Given the description of an element on the screen output the (x, y) to click on. 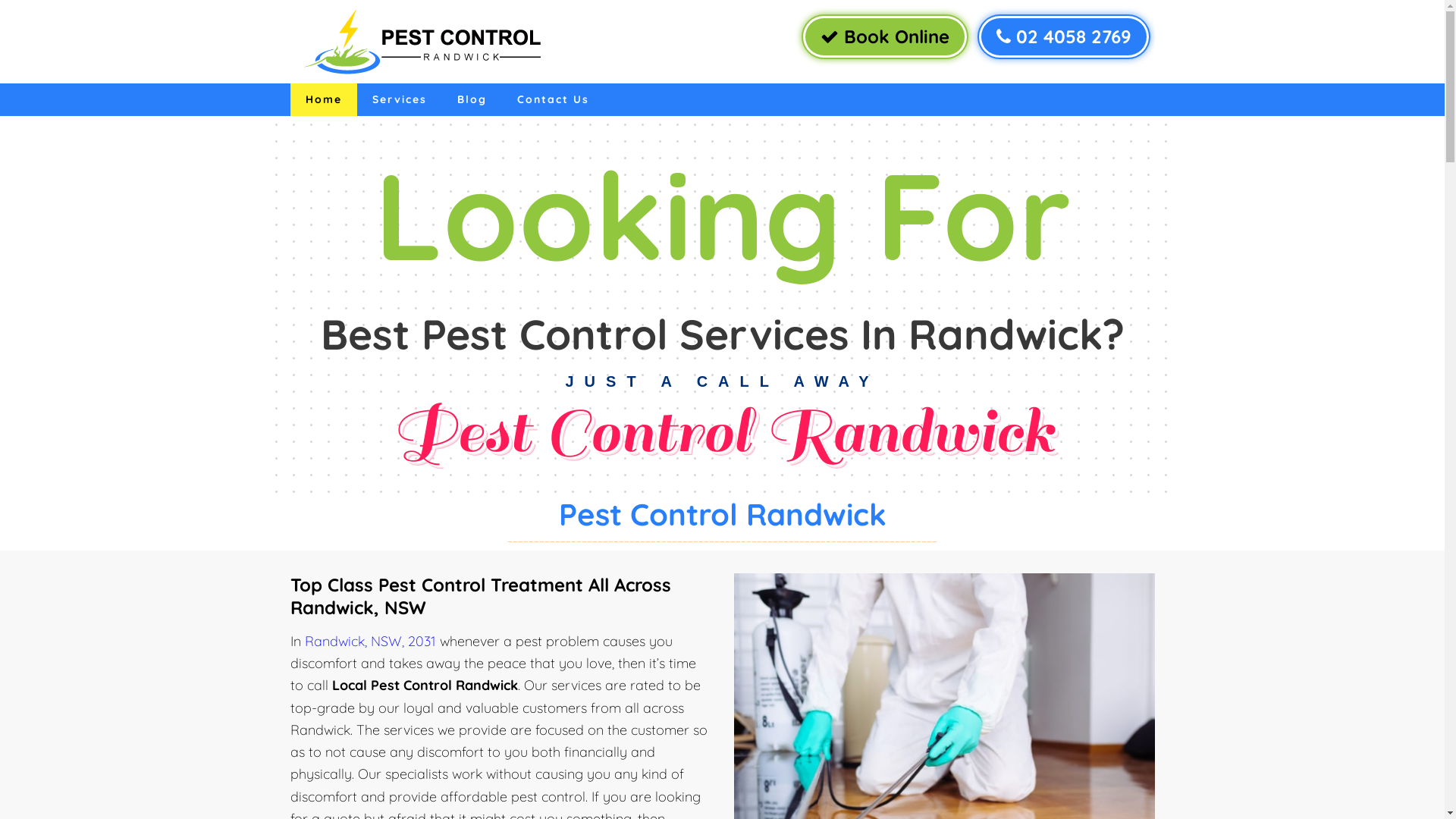
Book Online Element type: text (883, 36)
02 4058 2769 Element type: text (1062, 36)
Contact Us Element type: text (553, 99)
Services Element type: text (398, 99)
Home Element type: text (322, 99)
Blog Element type: text (471, 99)
